Given the description of an element on the screen output the (x, y) to click on. 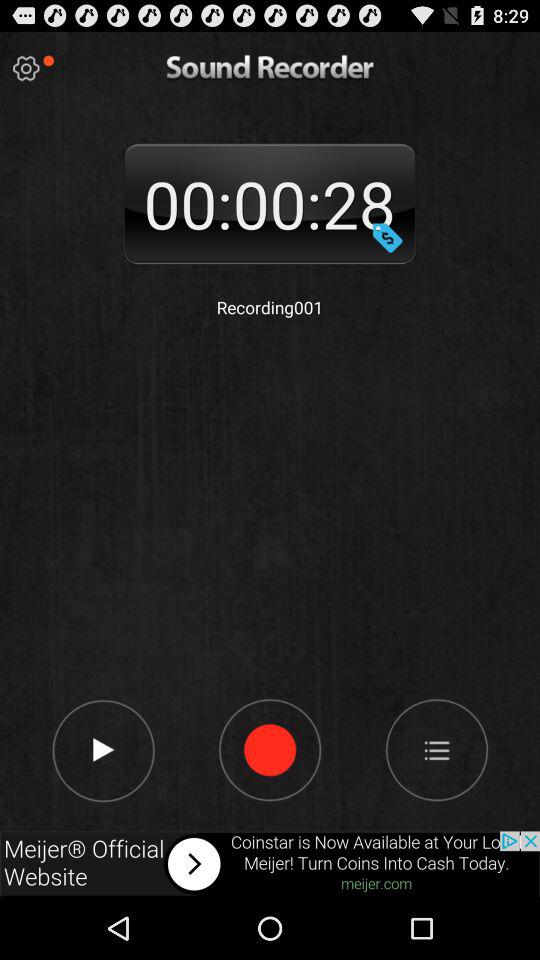
recording button (269, 749)
